Given the description of an element on the screen output the (x, y) to click on. 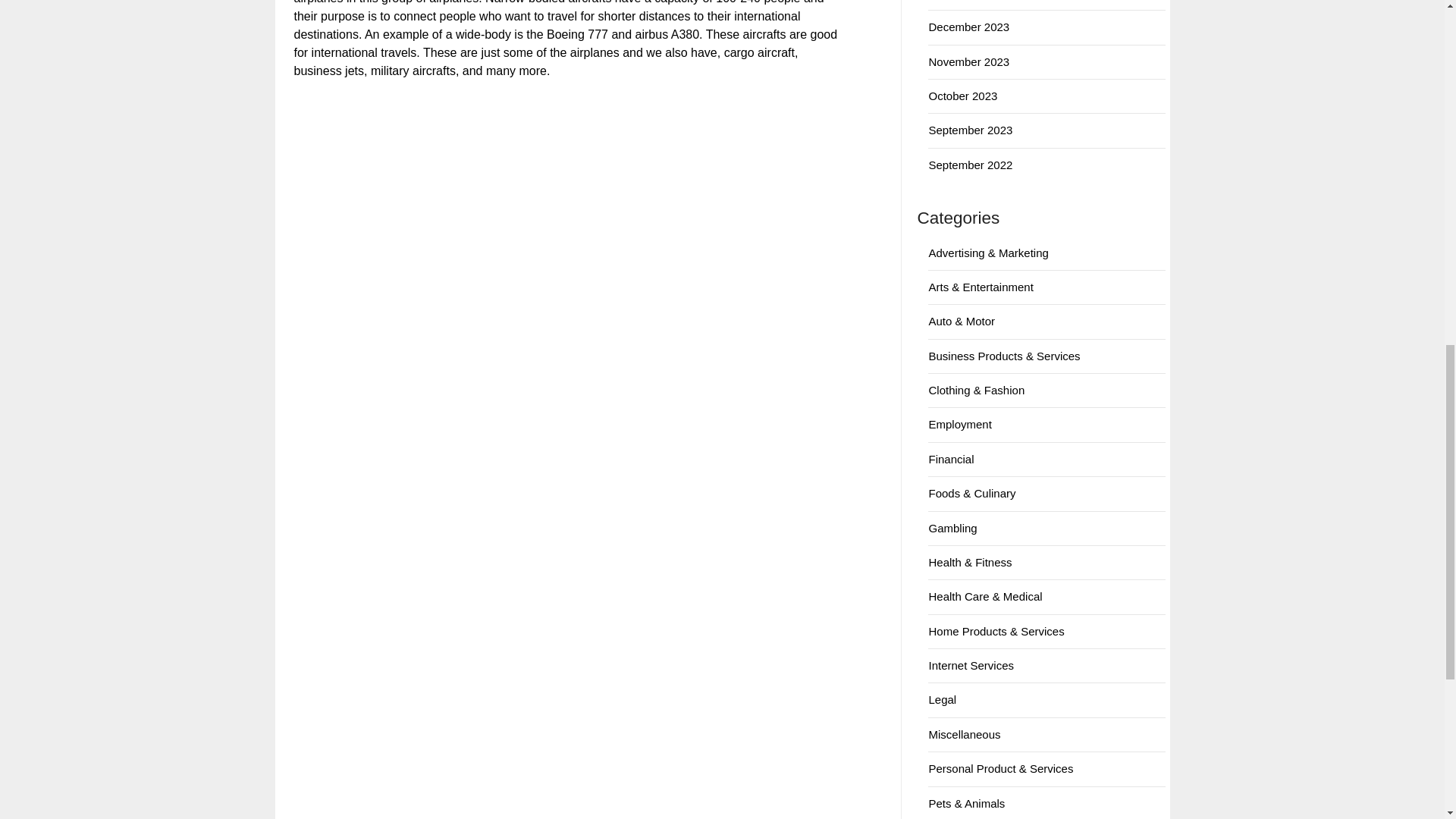
October 2023 (962, 95)
Employment (959, 423)
November 2023 (968, 60)
Financial (951, 459)
December 2023 (968, 26)
September 2023 (969, 129)
Gambling (952, 527)
September 2022 (969, 164)
